Given the description of an element on the screen output the (x, y) to click on. 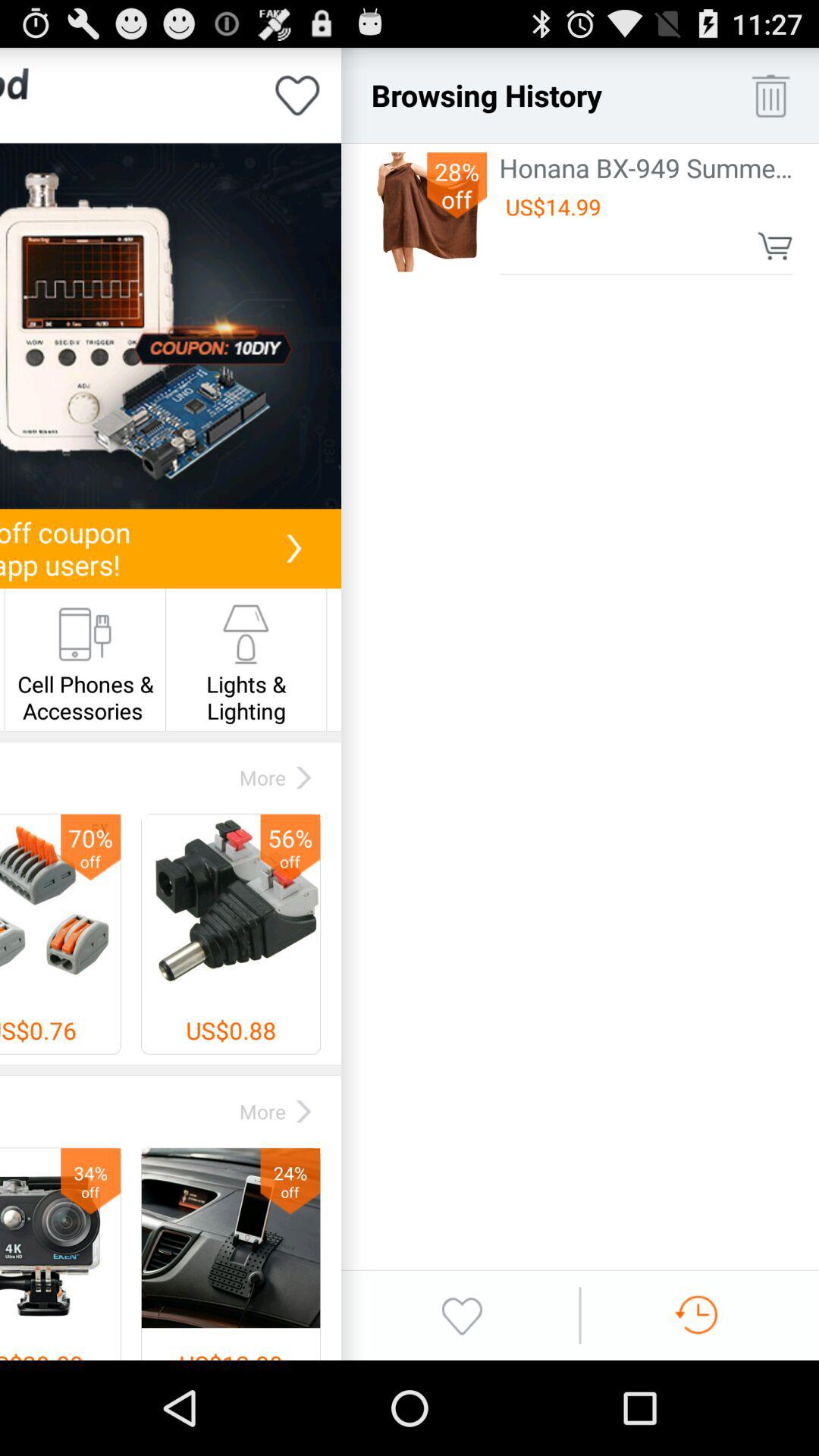
delete (770, 95)
